Given the description of an element on the screen output the (x, y) to click on. 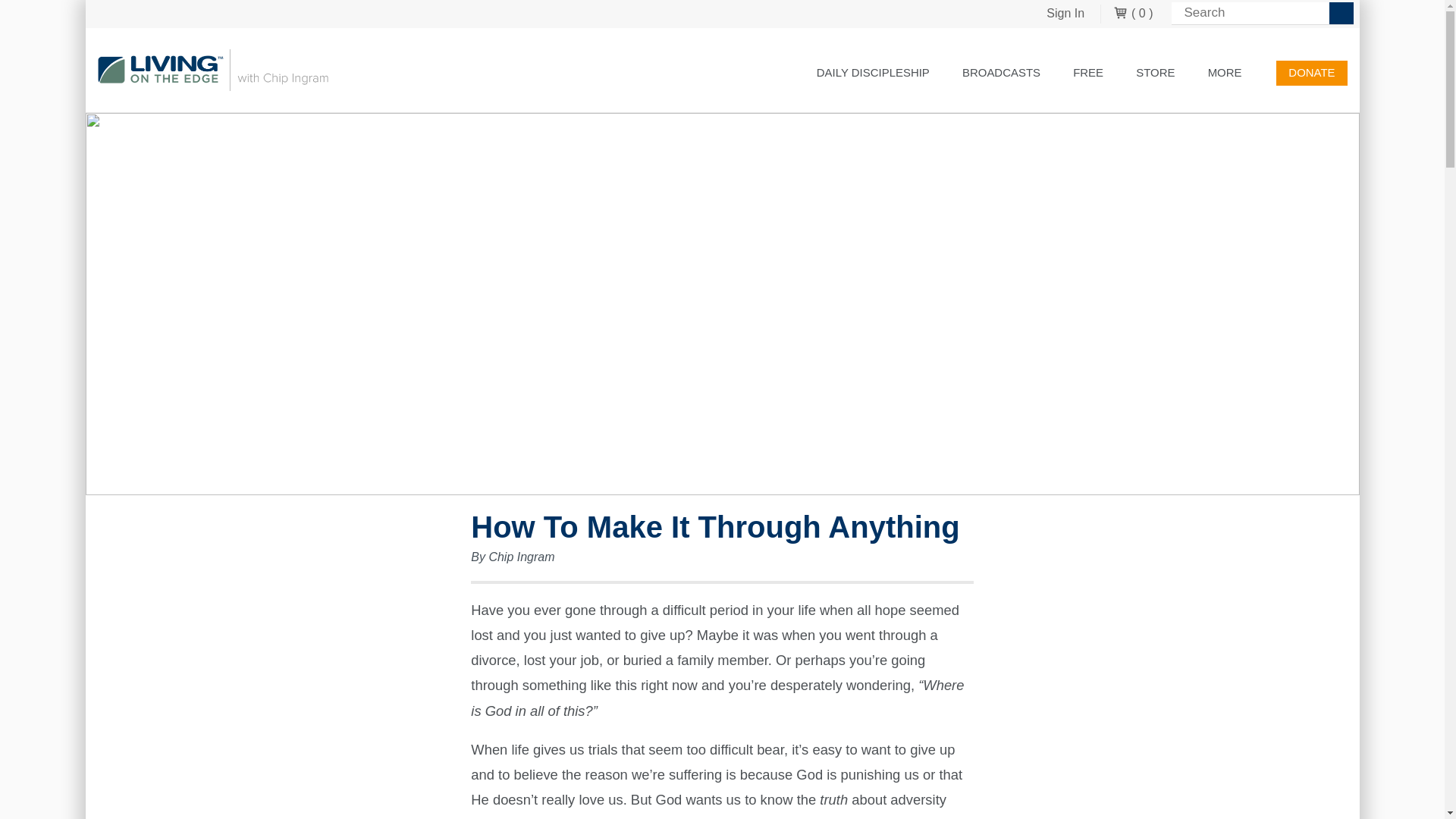
BROADCASTS (1001, 73)
Store (1155, 73)
Sign In (1064, 13)
STORE (1155, 73)
FREE (1088, 73)
View your shopping cart (1133, 13)
Free Resources (1088, 73)
Living on the Edge (212, 69)
MORE (1231, 73)
DONATE (1311, 72)
